Given the description of an element on the screen output the (x, y) to click on. 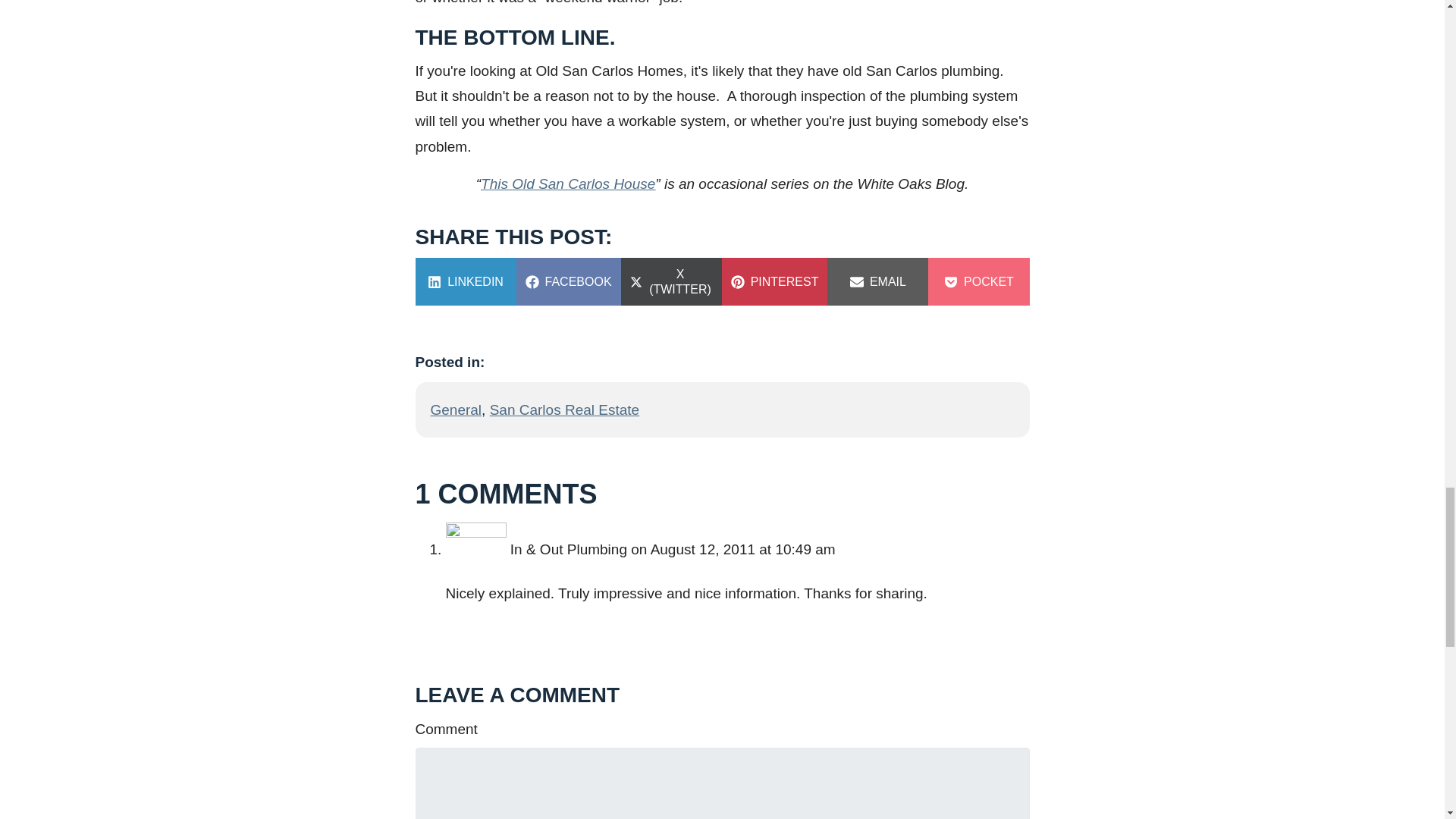
General (465, 280)
This Old San Carlos House (978, 280)
This Old San Carlos House (775, 280)
San Carlos Real Estate (455, 409)
